Given the description of an element on the screen output the (x, y) to click on. 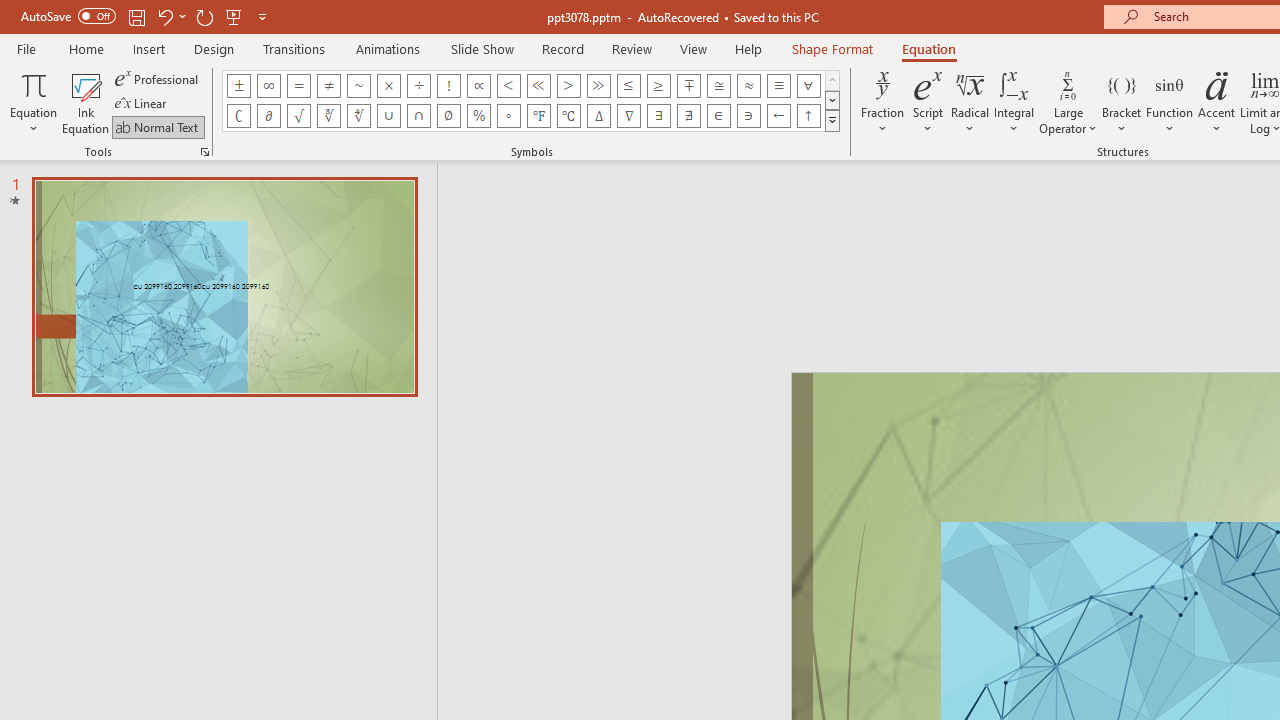
Equation Options... (204, 151)
Equation Symbol Nabla (628, 115)
Linear (142, 103)
Equation Symbol Up Arrow (808, 115)
AutomationID: EquationSymbolsInsertGallery (532, 100)
Equation Symbol Intersection (418, 115)
Equation Symbol Much Greater Than (598, 85)
Equation Symbol For All (808, 85)
Equation Symbol Equal (298, 85)
Script (927, 102)
Equation Symbol Less Than (508, 85)
